Given the description of an element on the screen output the (x, y) to click on. 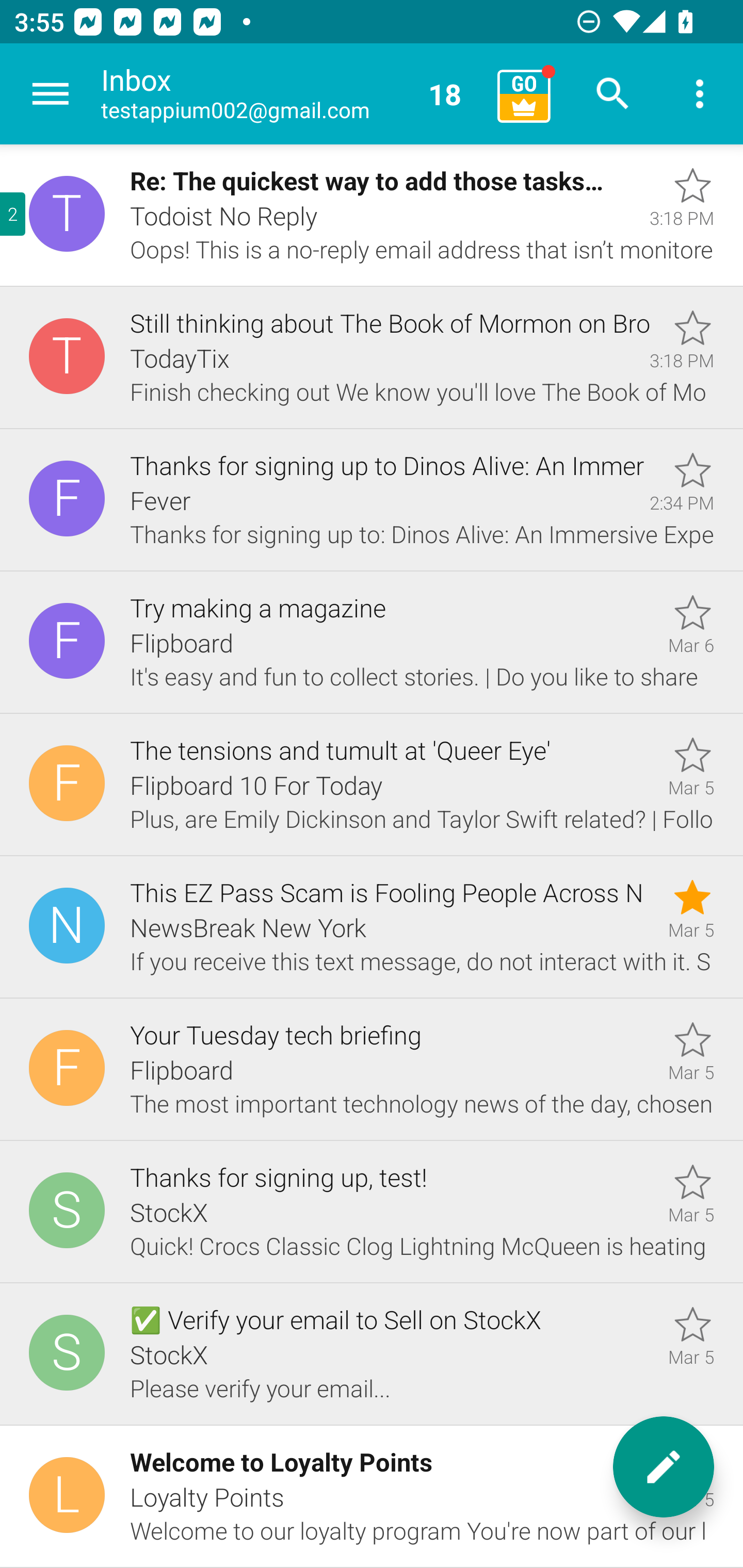
Navigate up (50, 93)
Inbox testappium002@gmail.com 18 (291, 93)
Search (612, 93)
More options (699, 93)
New message (663, 1466)
